Given the description of an element on the screen output the (x, y) to click on. 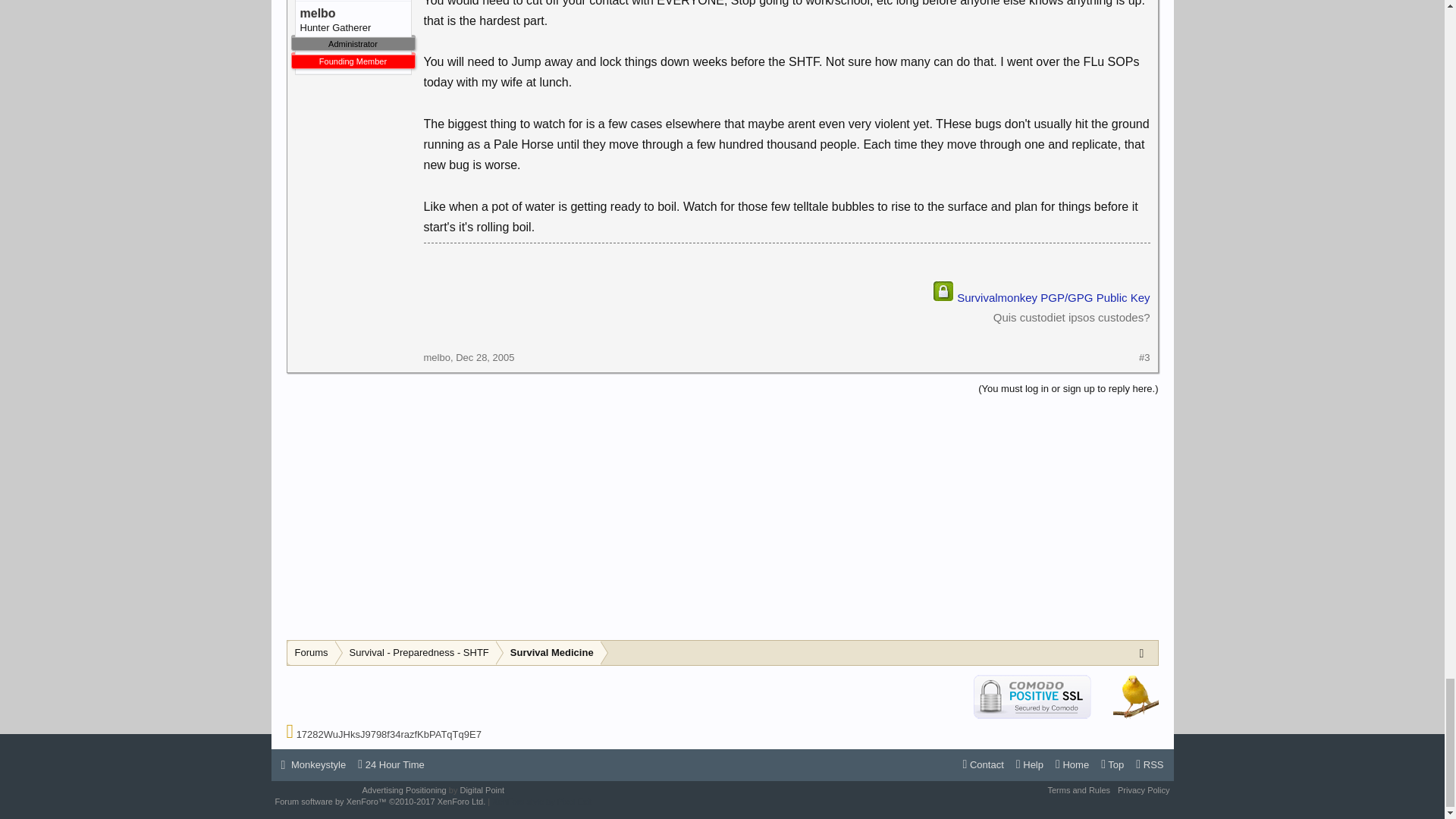
Permalink (484, 357)
Dec 28, 2005 (484, 357)
melbo (436, 357)
Open quick navigation (1144, 652)
Survival - Preparedness - SHTF (416, 652)
17282WuJHksJ9798f34razfKbPATqTq9E7 (389, 734)
Forums (310, 652)
melbo (352, 13)
Survival Medicine (548, 652)
